Given the description of an element on the screen output the (x, y) to click on. 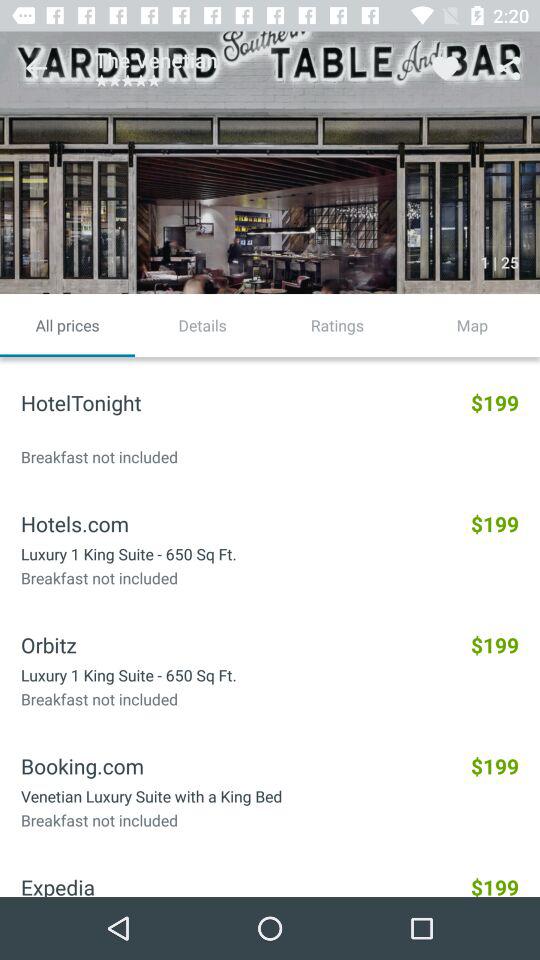
scroll to ratings icon (337, 325)
